Given the description of an element on the screen output the (x, y) to click on. 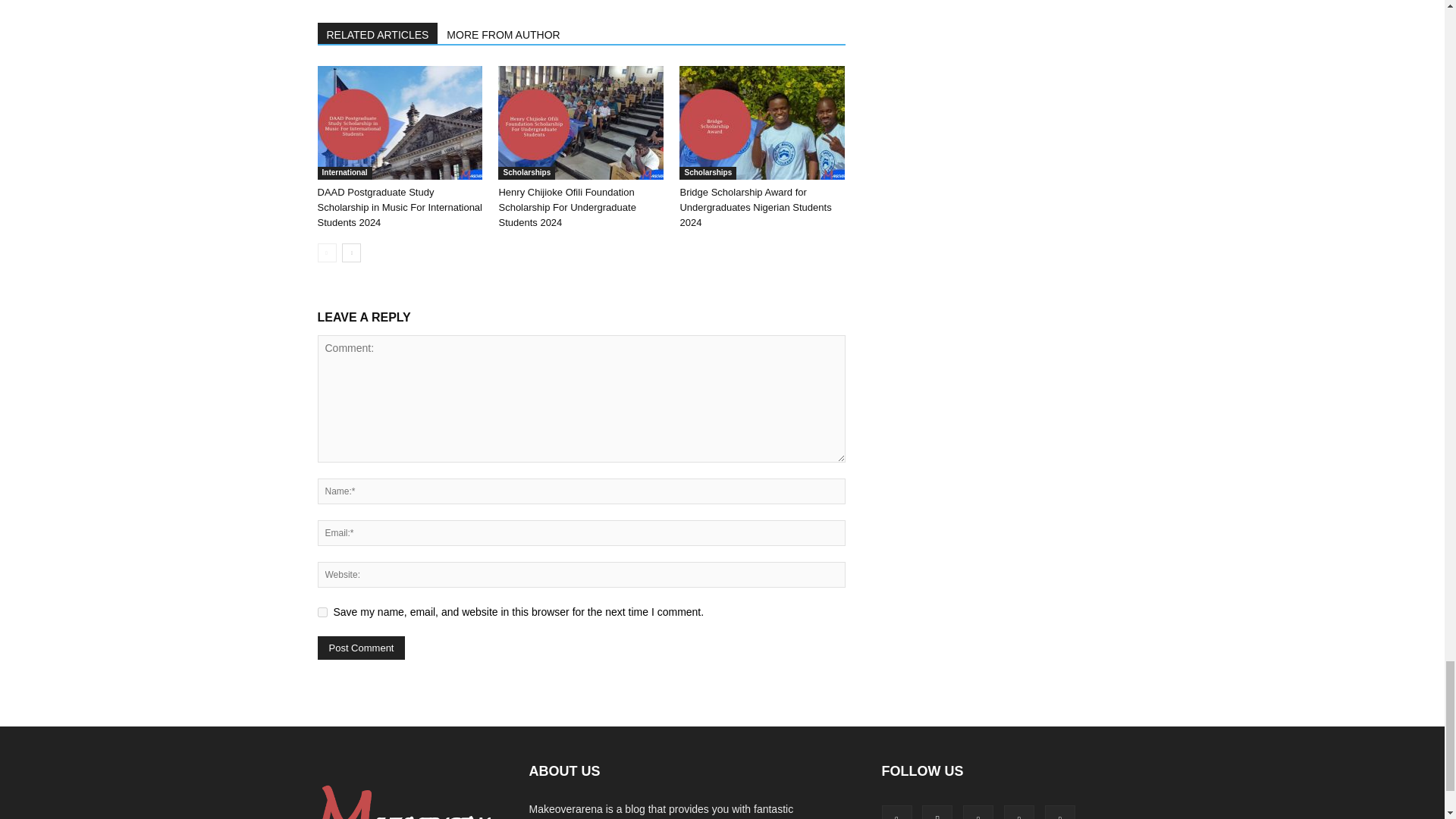
yes (321, 612)
Post Comment (360, 648)
